Given the description of an element on the screen output the (x, y) to click on. 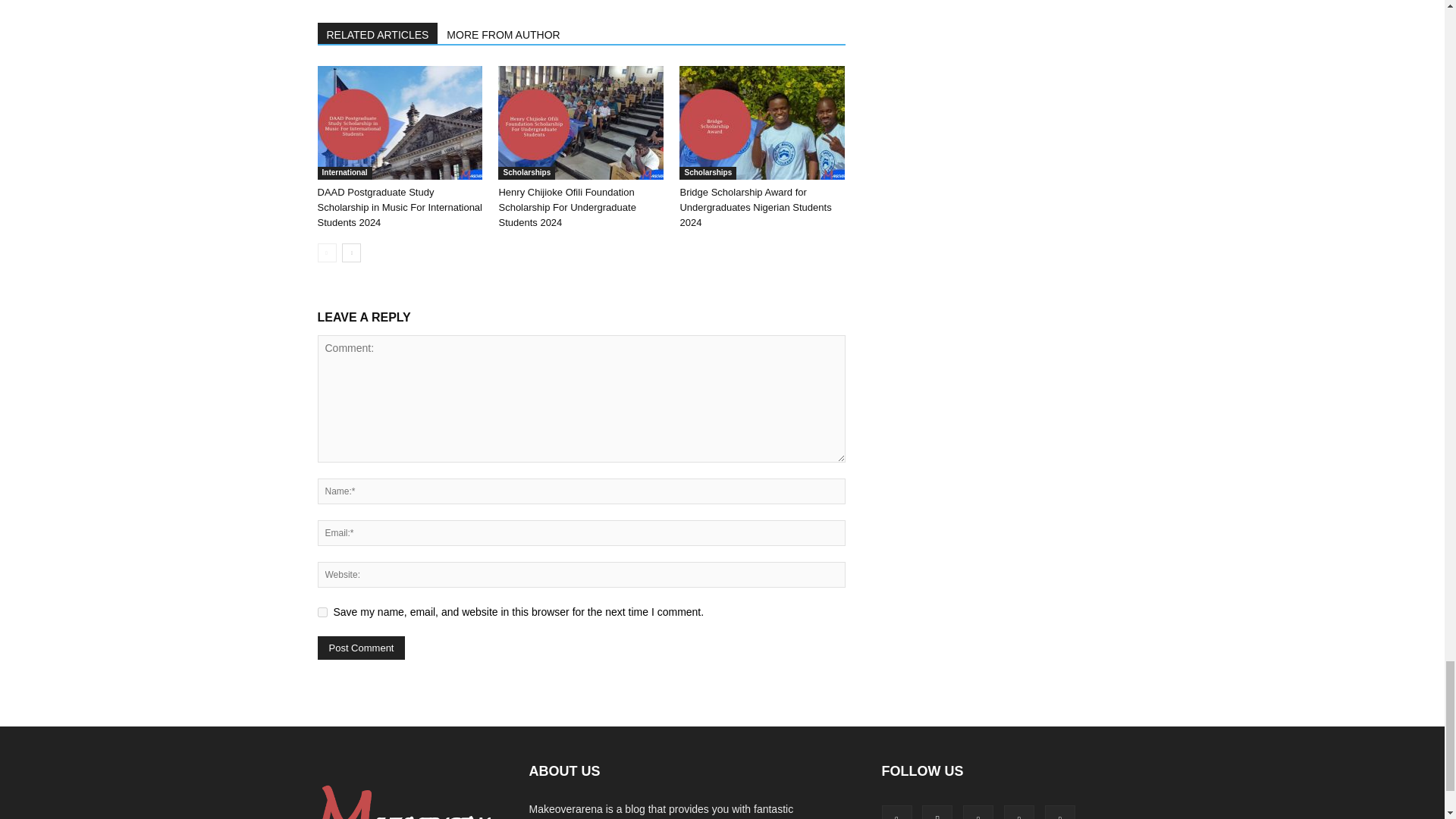
yes (321, 612)
Post Comment (360, 648)
